Given the description of an element on the screen output the (x, y) to click on. 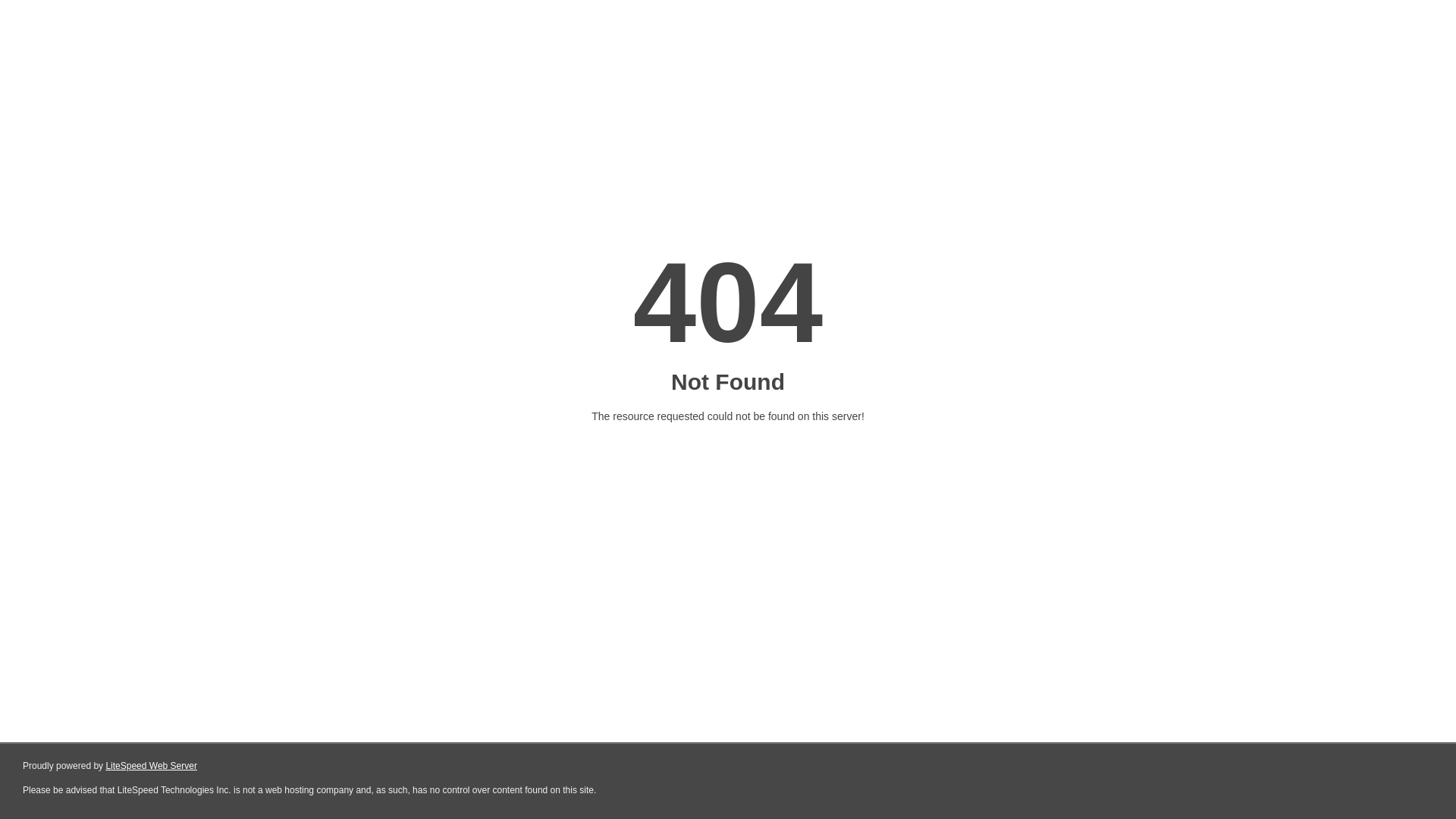
LiteSpeed Web Server Element type: text (151, 765)
